Given the description of an element on the screen output the (x, y) to click on. 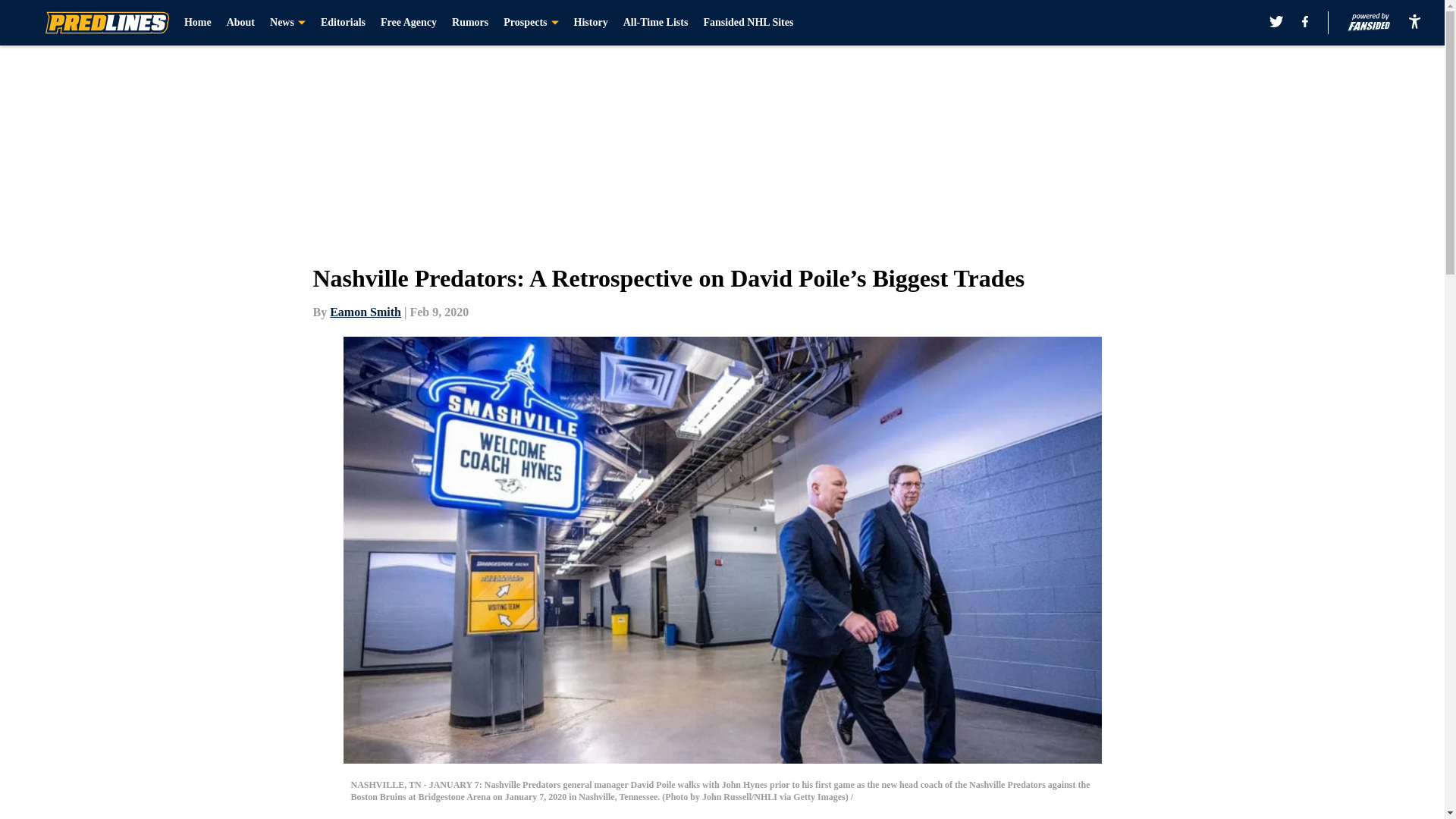
Eamon Smith (365, 311)
Editorials (342, 22)
Free Agency (408, 22)
All-Time Lists (655, 22)
Home (197, 22)
Fansided NHL Sites (748, 22)
About (240, 22)
History (590, 22)
Rumors (469, 22)
